Given the description of an element on the screen output the (x, y) to click on. 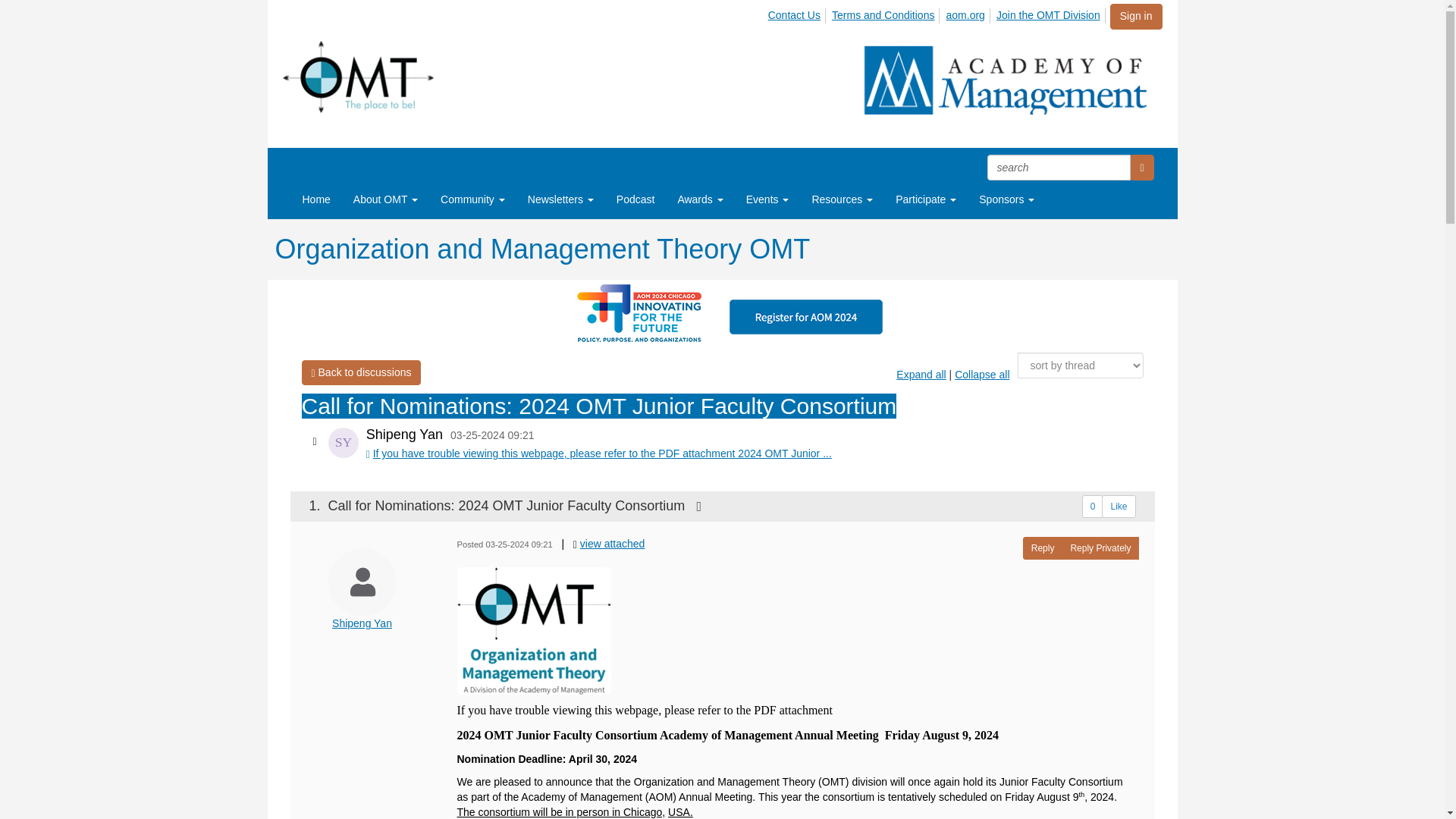
Sign in (1135, 16)
Join the OMT Division (1049, 15)
Terms and Conditions (884, 15)
Read the code of conduct for posting to the lists (884, 15)
Home (316, 199)
Like this item? (1118, 506)
aom.org (966, 15)
Community (472, 199)
search (1059, 167)
How to get in contact with us (796, 15)
Contact Us (796, 15)
Podcast (635, 199)
About OMT (385, 199)
Awards (699, 199)
Newsletters (560, 199)
